Given the description of an element on the screen output the (x, y) to click on. 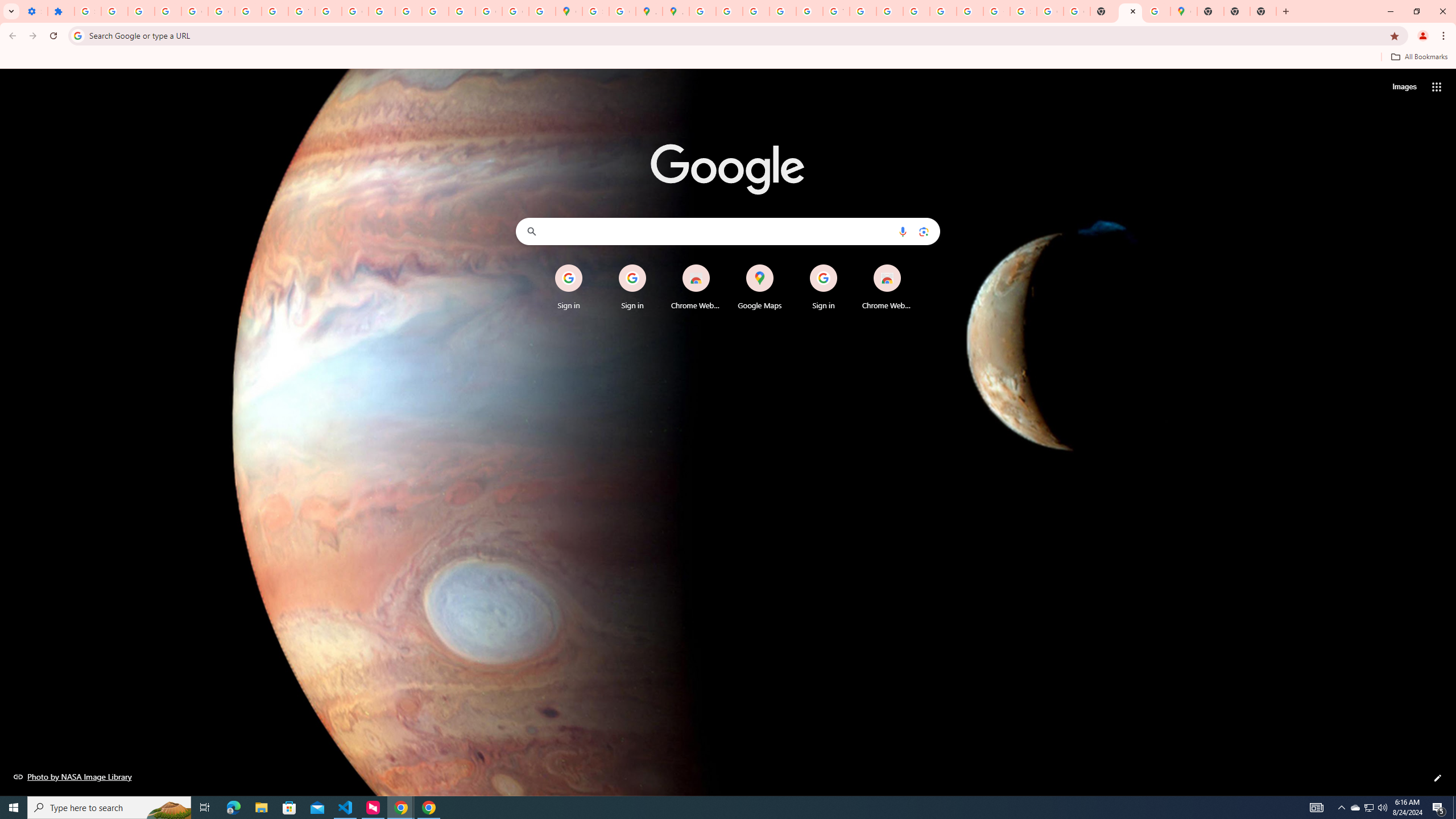
Settings - On startup (34, 11)
Bookmarks (728, 58)
Google Account Help (194, 11)
Customize this page (1437, 778)
Sign in - Google Accounts (595, 11)
Google Maps (1183, 11)
